Given the description of an element on the screen output the (x, y) to click on. 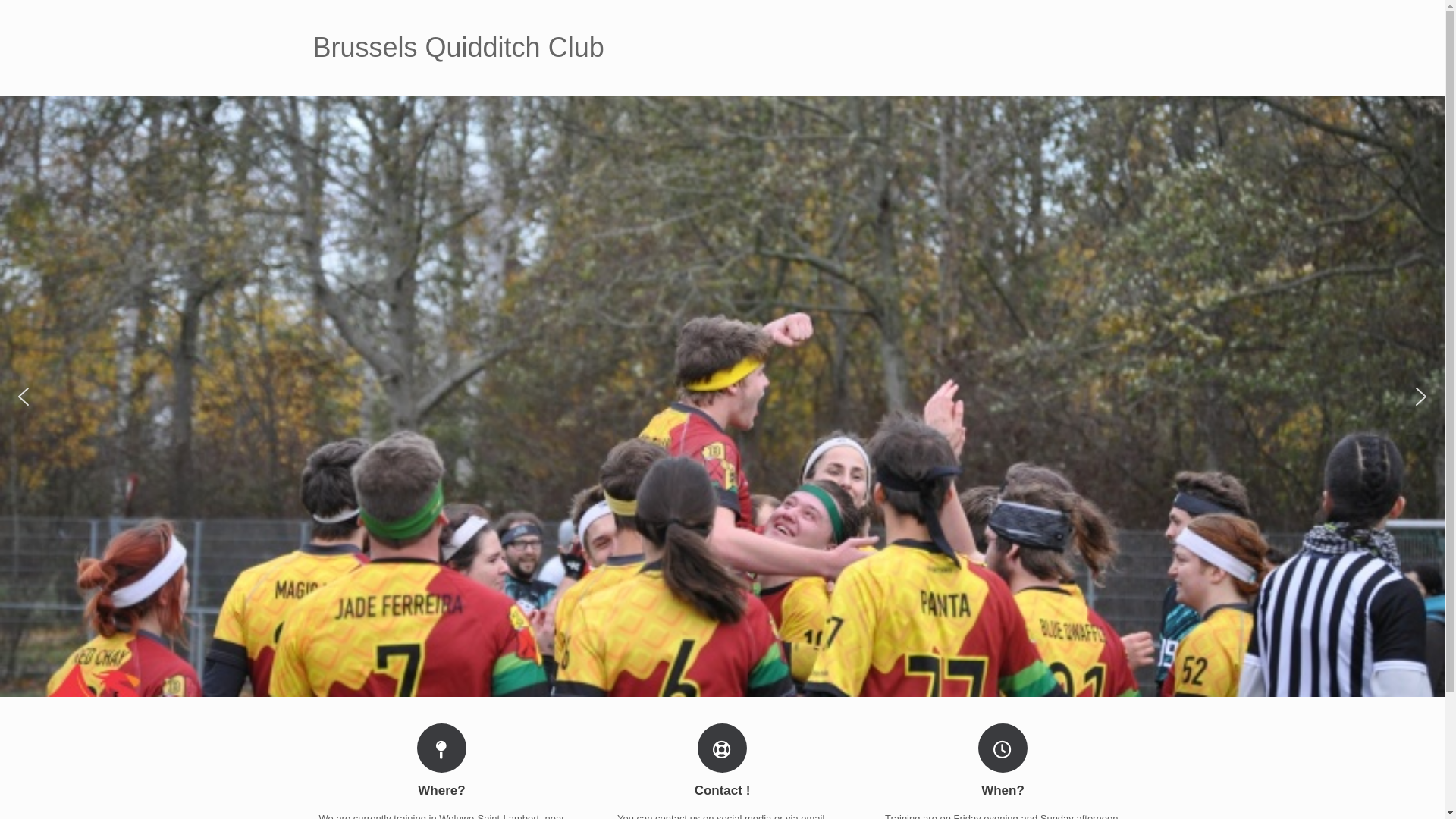
Brussels Quidditch Club Element type: text (457, 47)
Skip to content Element type: text (0, 0)
